Given the description of an element on the screen output the (x, y) to click on. 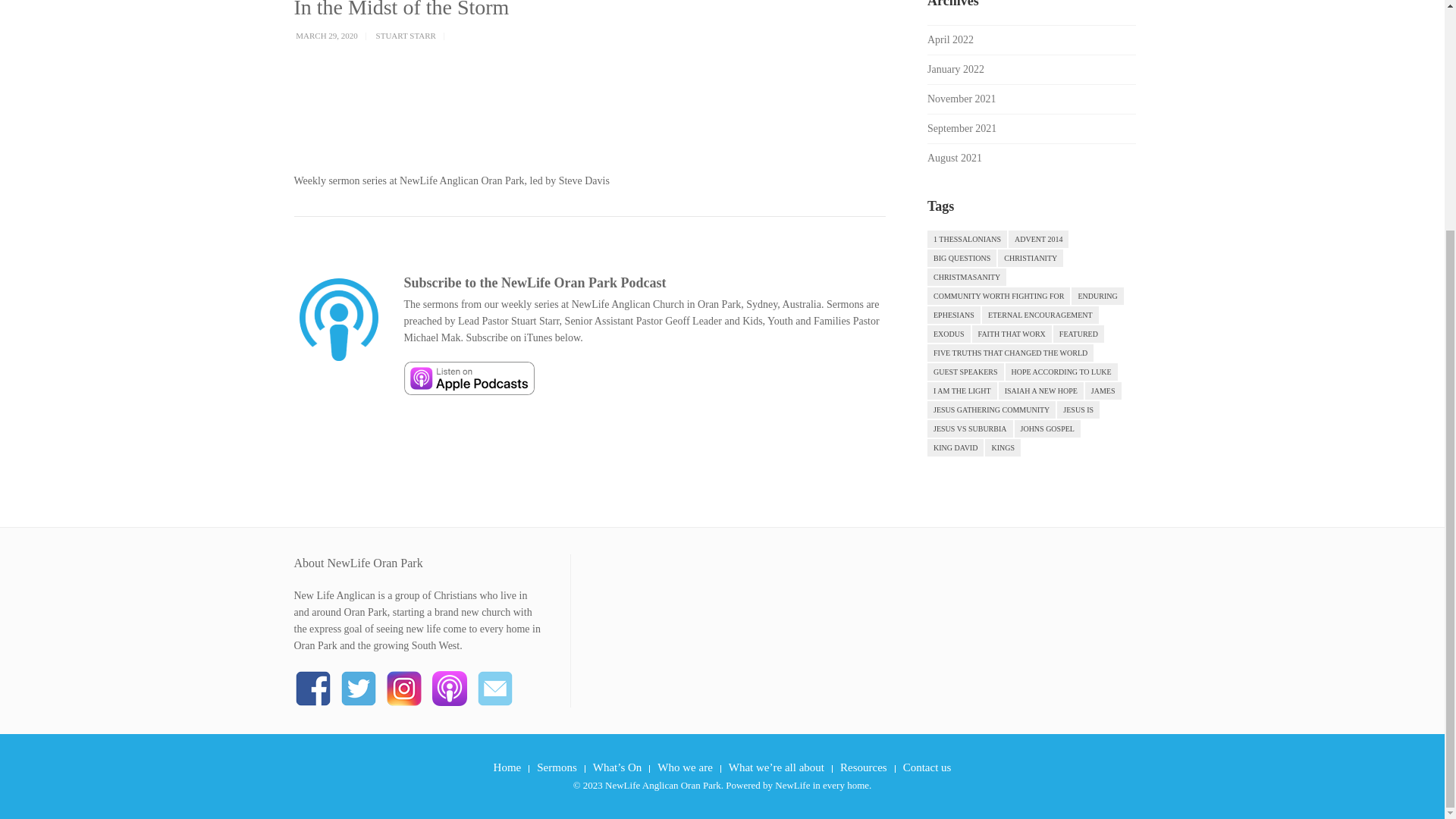
January 2022 (955, 69)
April 2022 (950, 39)
November 2021 (961, 98)
August 2021 (954, 157)
September 2021 (961, 128)
